Given the description of an element on the screen output the (x, y) to click on. 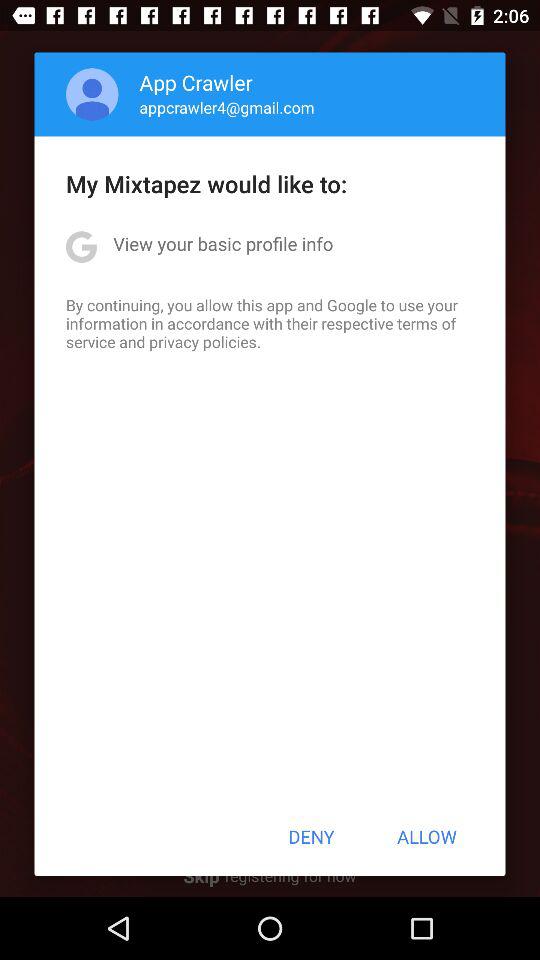
press appcrawler4@gmail.com app (226, 107)
